Given the description of an element on the screen output the (x, y) to click on. 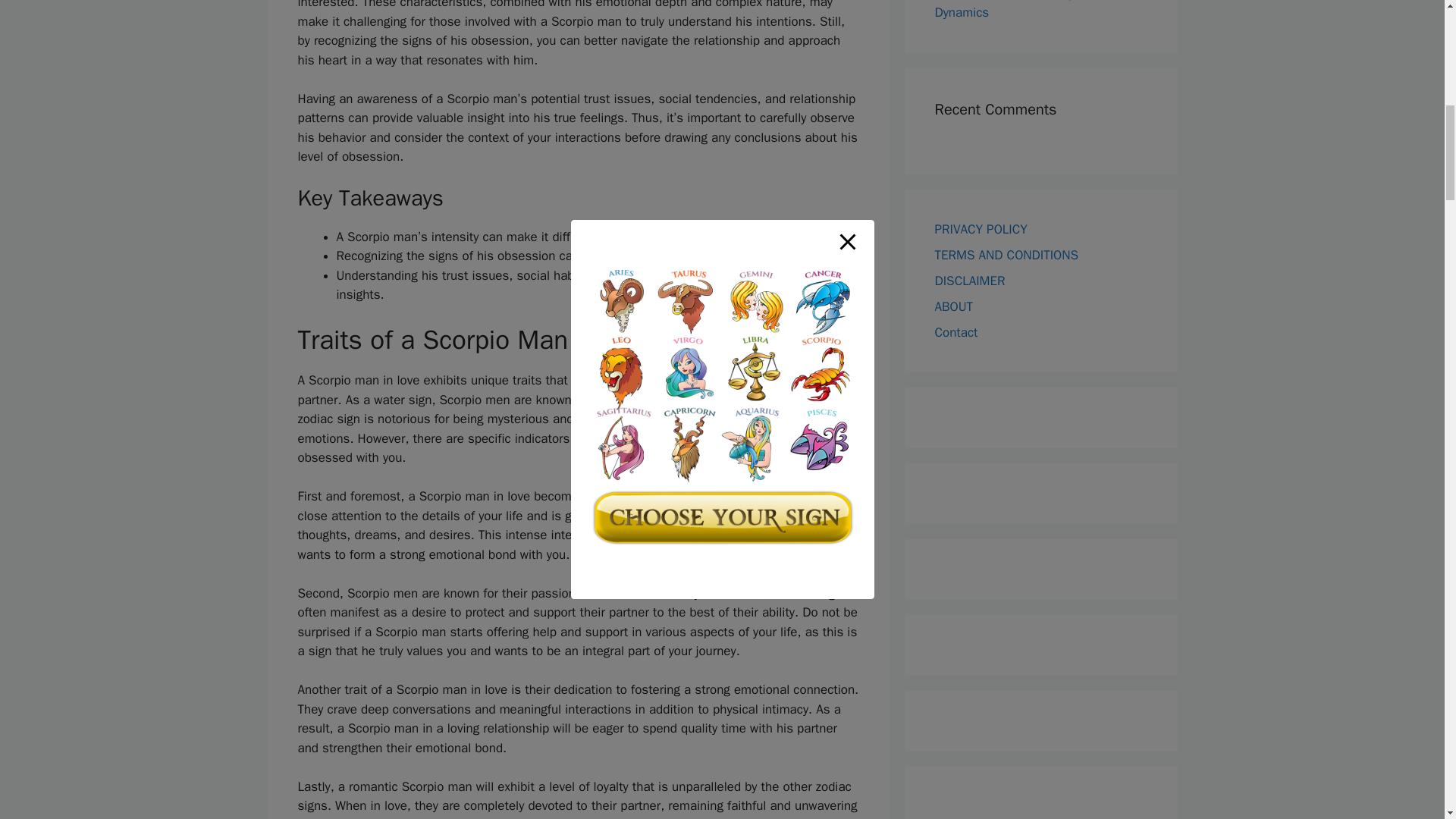
ABOUT (953, 306)
TERMS AND CONDITIONS (1006, 254)
PRIVACY POLICY (980, 229)
DISCLAIMER (969, 280)
